Given the description of an element on the screen output the (x, y) to click on. 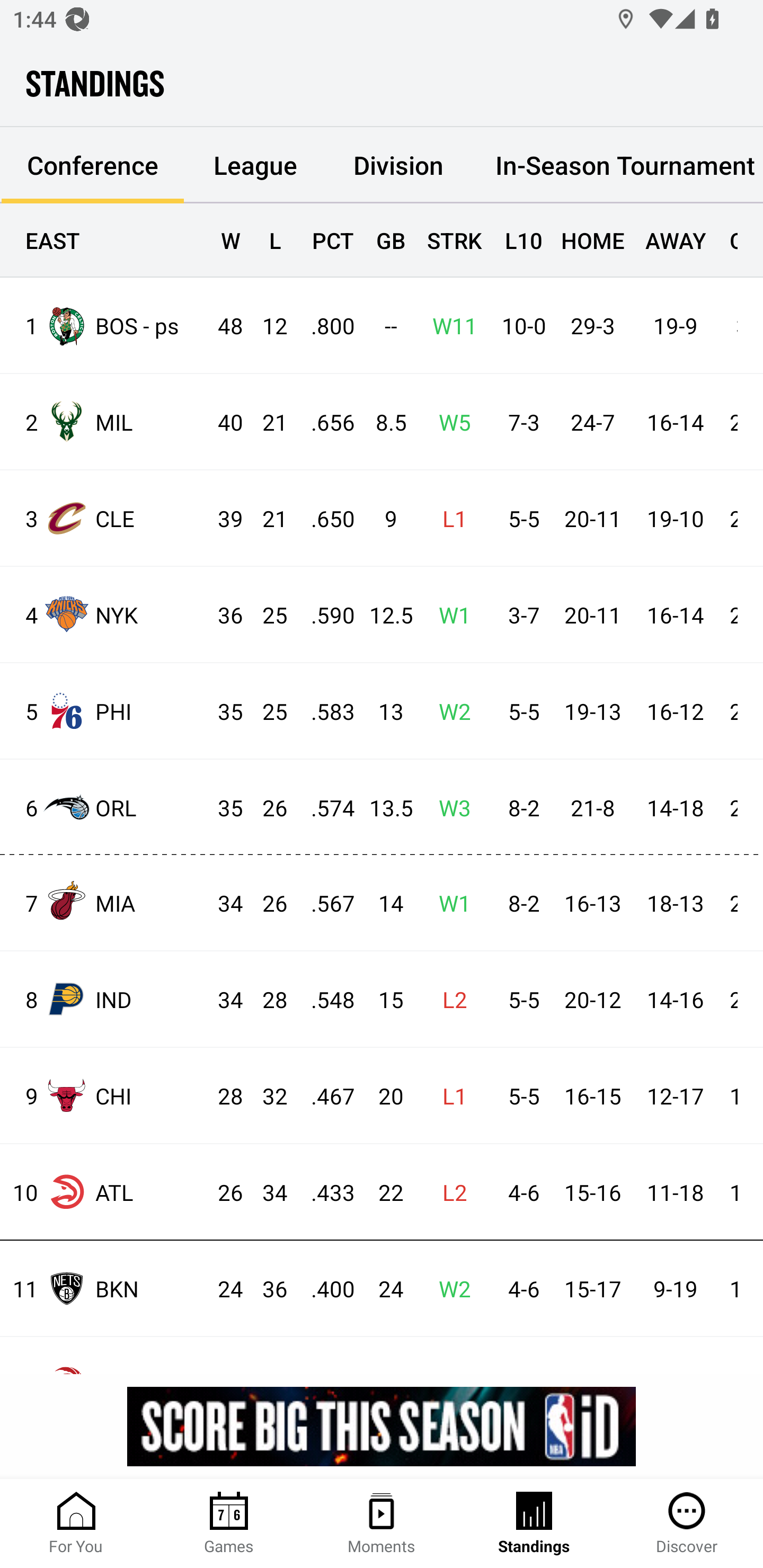
League (254, 165)
Division (398, 165)
In-Season Tournament (616, 165)
1 BOS - ps (104, 325)
2 MIL (104, 421)
3 CLE (104, 518)
4 NYK (104, 613)
5 PHI (104, 710)
6 ORL (104, 806)
7 MIA (104, 902)
8 IND (104, 999)
9 CHI (104, 1095)
10 ATL (104, 1192)
11 BKN (104, 1287)
For You (76, 1523)
Games (228, 1523)
Moments (381, 1523)
Discover (686, 1523)
